Given the description of an element on the screen output the (x, y) to click on. 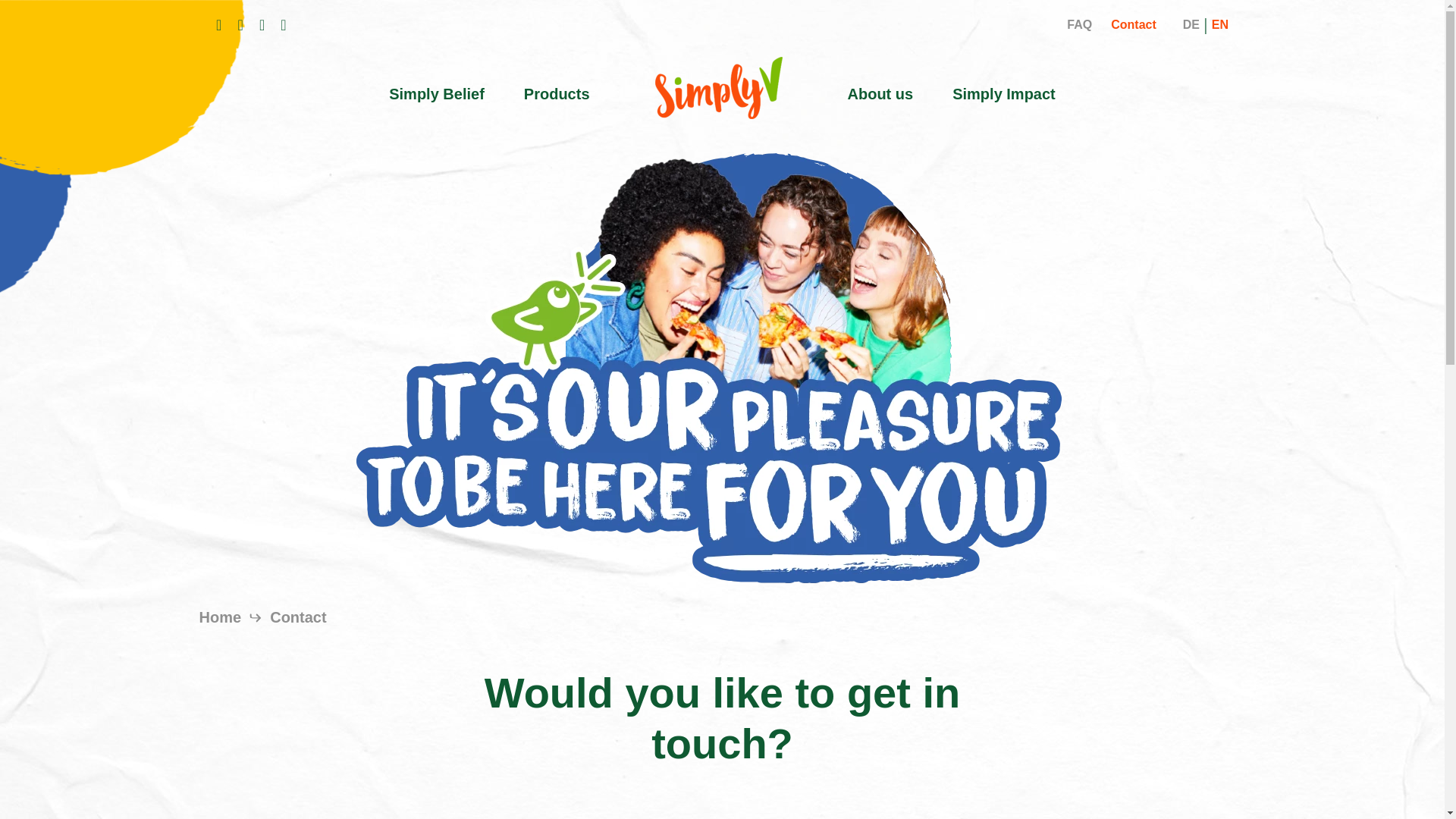
Contact (1133, 24)
Simply Impact (1003, 93)
About us (880, 93)
Home (221, 617)
FAQ (1079, 24)
DE (1190, 24)
EN (1219, 24)
Products (556, 93)
Contact (297, 617)
Simply Belief (436, 93)
